Given the description of an element on the screen output the (x, y) to click on. 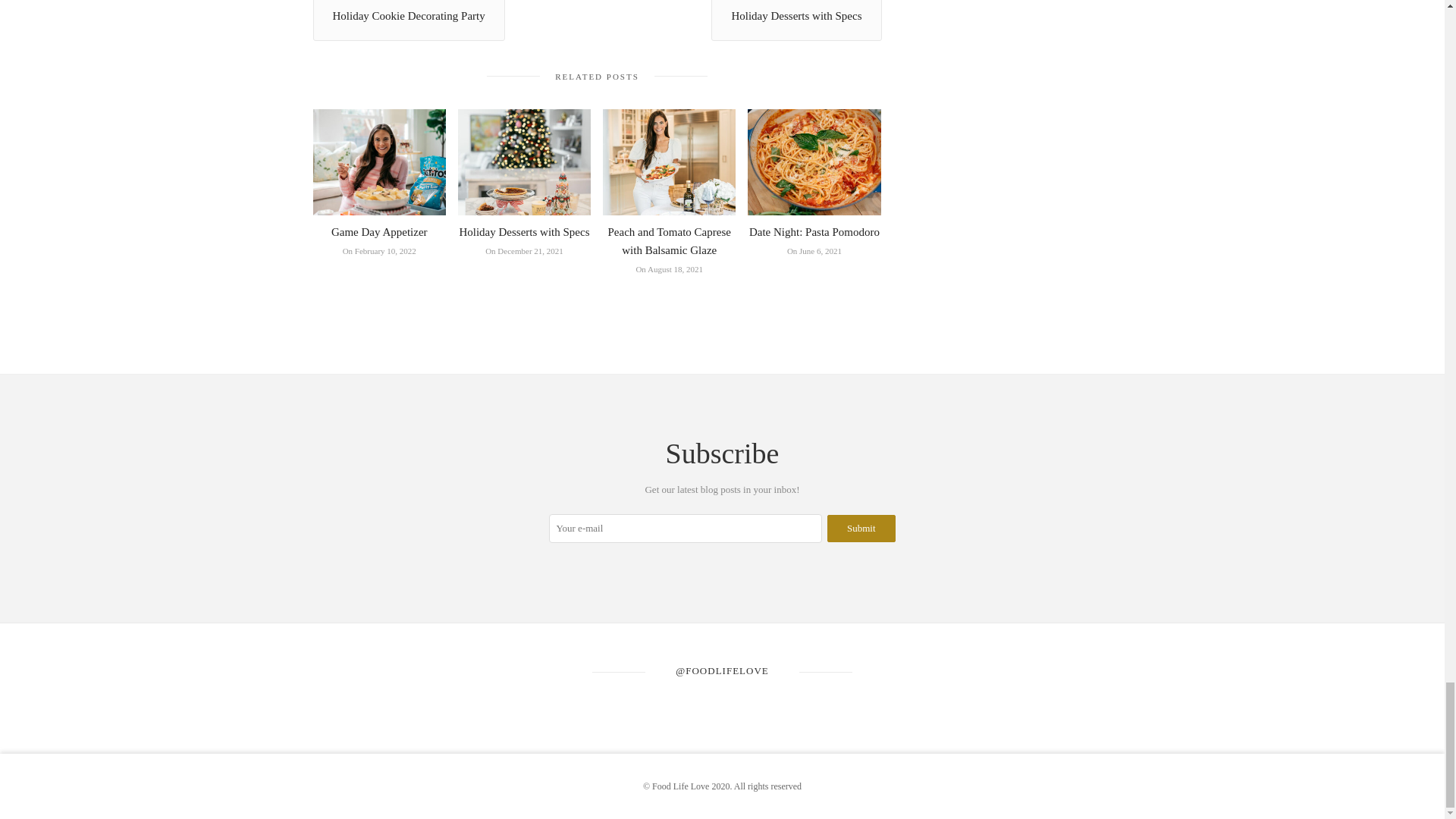
Your e-mail (685, 528)
Submit (861, 528)
